Given the description of an element on the screen output the (x, y) to click on. 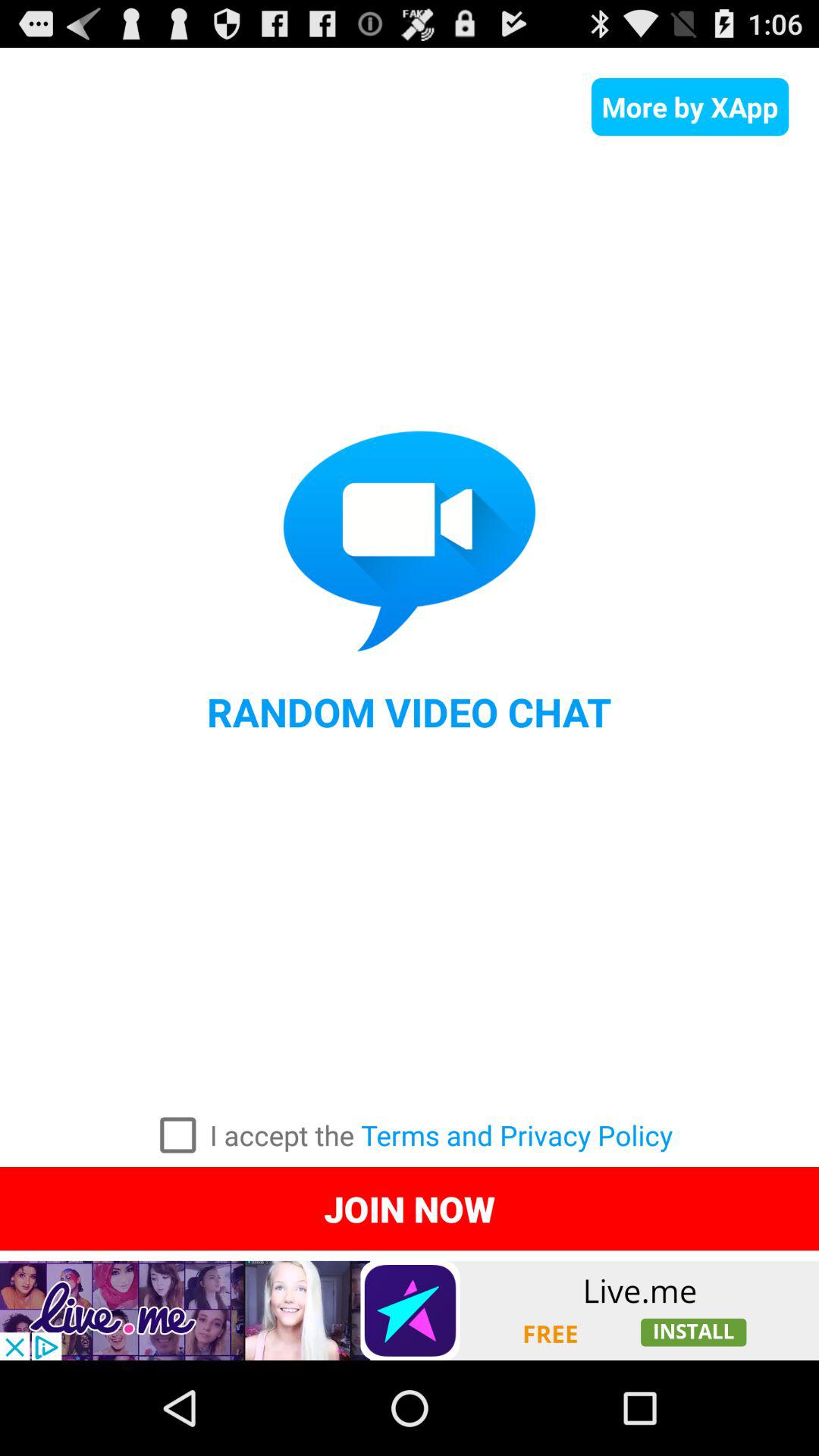
advertisement (409, 1310)
